Given the description of an element on the screen output the (x, y) to click on. 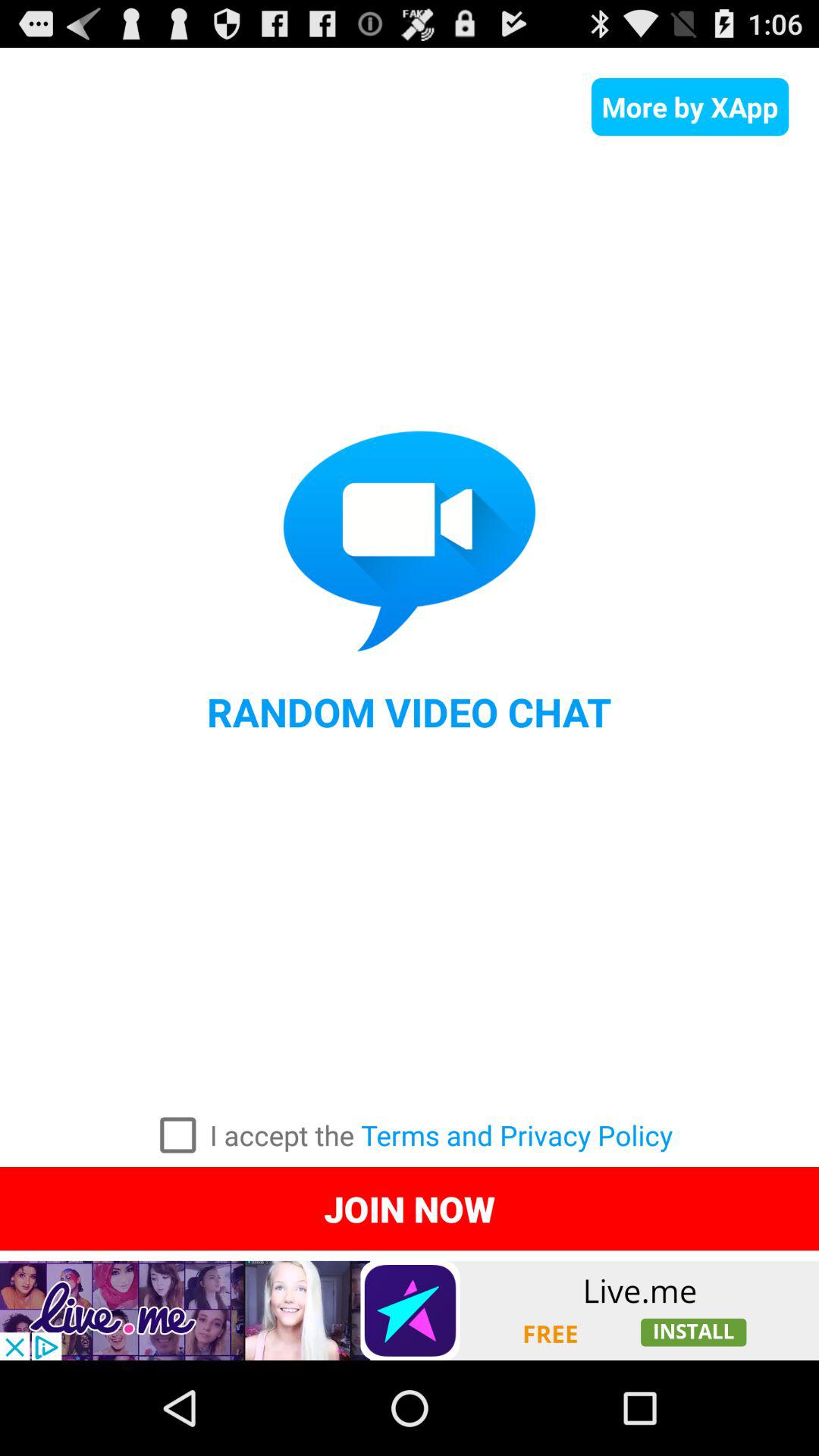
advertisement (409, 1310)
